Given the description of an element on the screen output the (x, y) to click on. 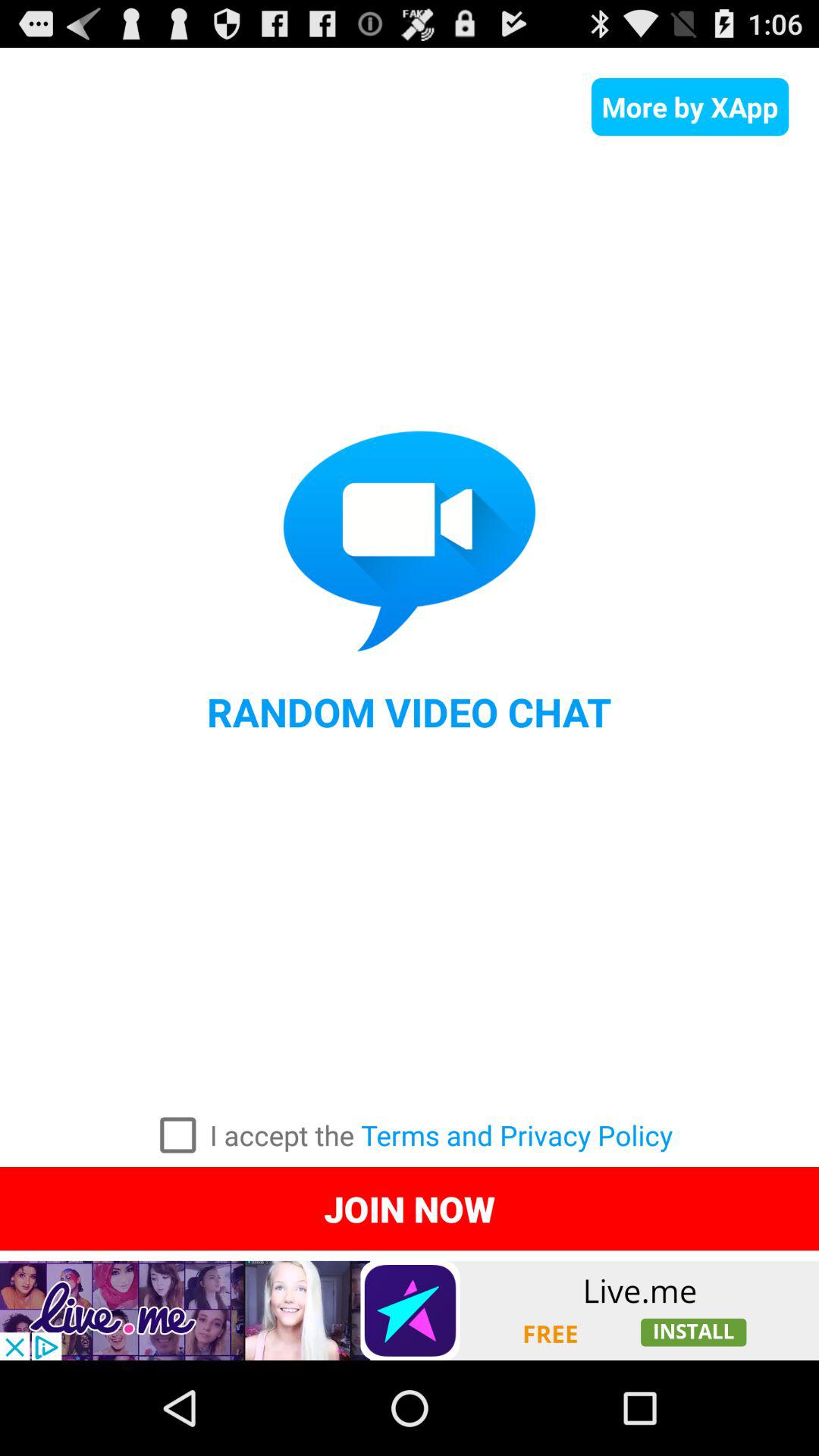
advertisement (409, 1310)
